Given the description of an element on the screen output the (x, y) to click on. 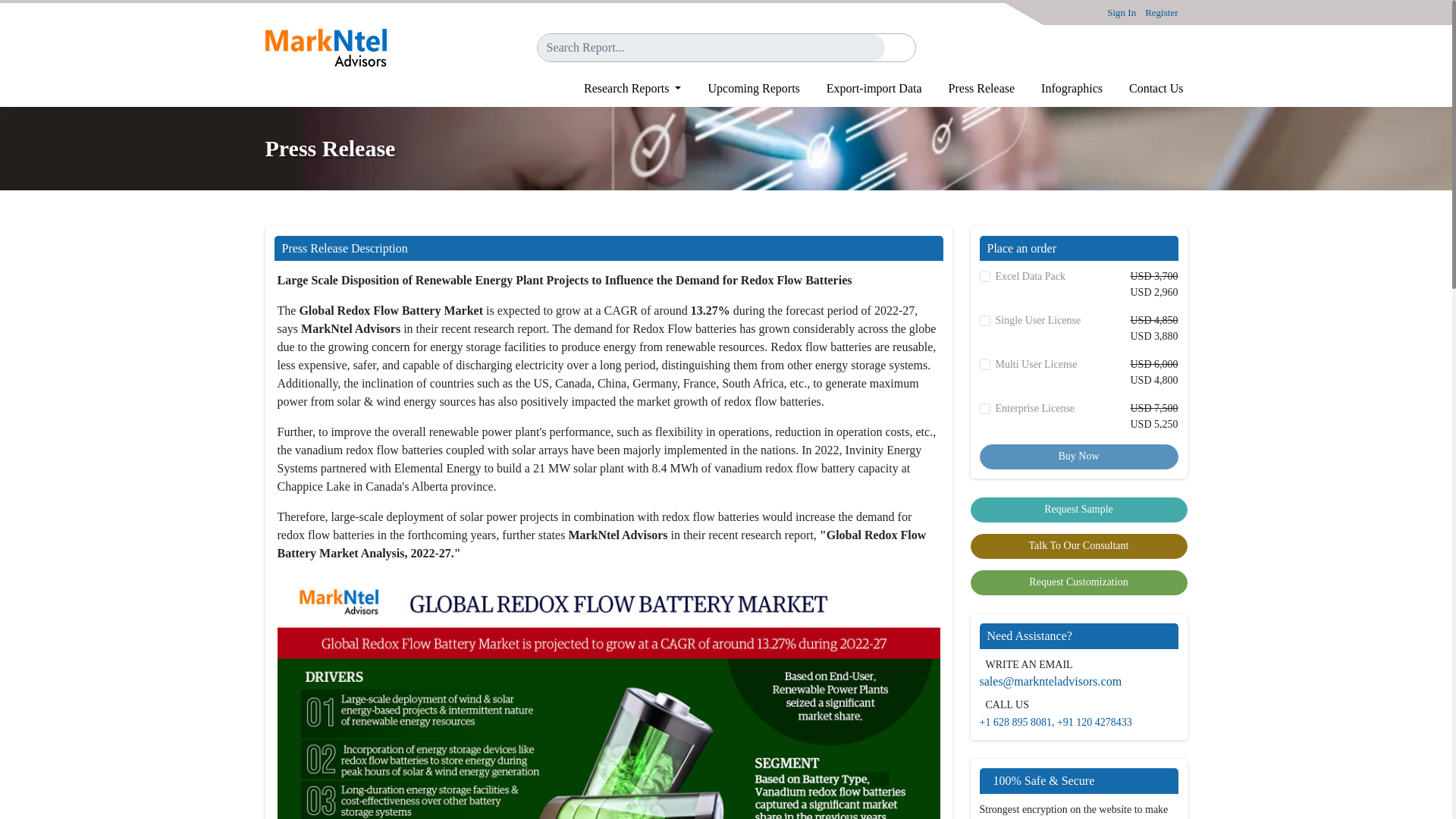
Research Reports (622, 88)
Export-import Data (864, 88)
Contact Us (1146, 88)
Upcoming Reports (743, 88)
Talk To Our Consultant (1079, 545)
Request Sample (1079, 509)
Infographics (1062, 88)
Request Customization (1079, 582)
Press Release (972, 88)
Buy Now (1078, 456)
Sign In (1120, 12)
Register (1160, 12)
